Given the description of an element on the screen output the (x, y) to click on. 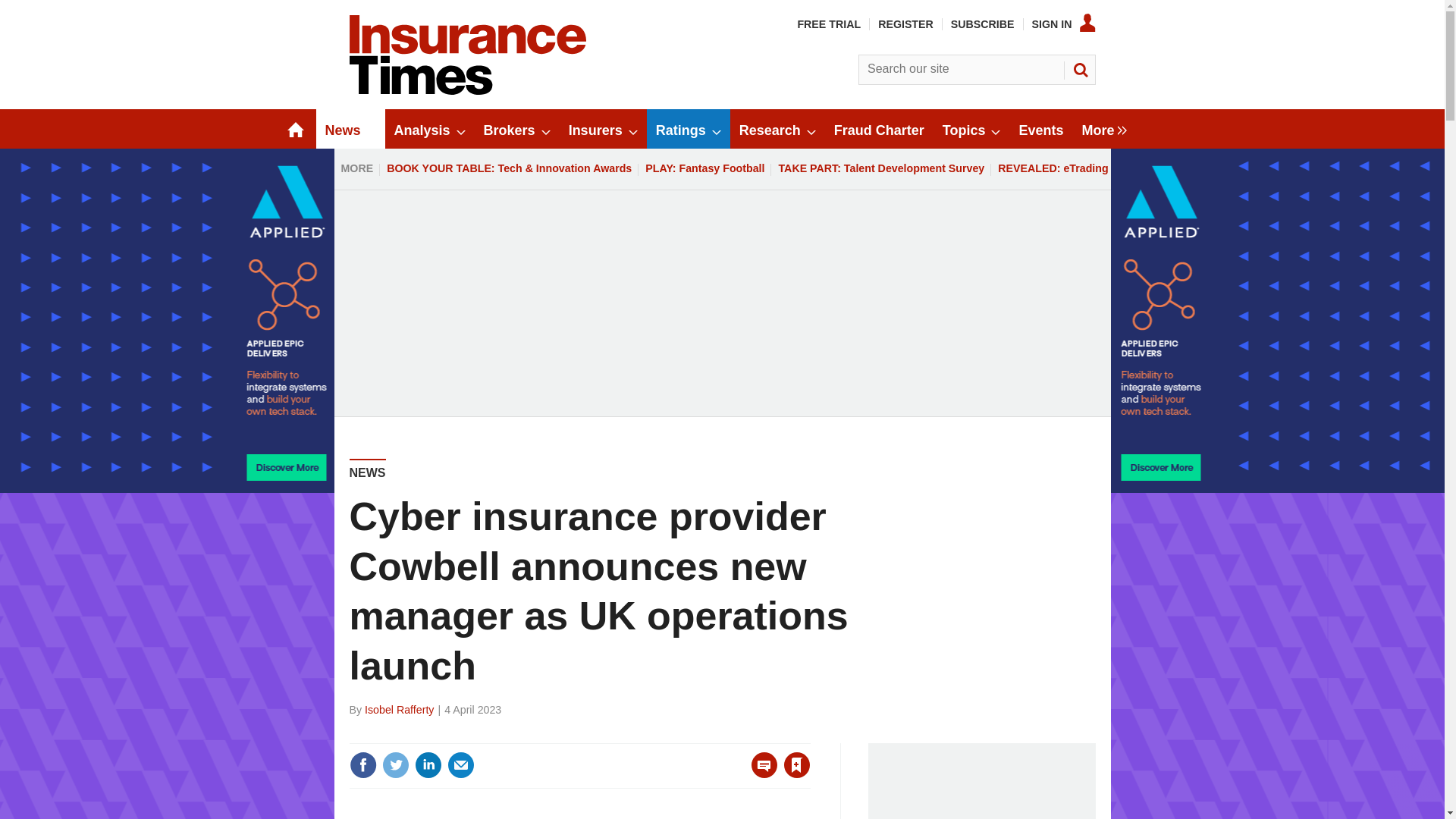
SIGN IN (1064, 24)
PLAY: Fantasy Football (705, 168)
Share this on Linked in (427, 764)
TAKE PART: Talent Development Survey (881, 168)
3rd party ad content (980, 780)
Insert Logo text (467, 90)
Email this article (460, 764)
Share this on Twitter (395, 764)
REGISTER (905, 24)
